Given the description of an element on the screen output the (x, y) to click on. 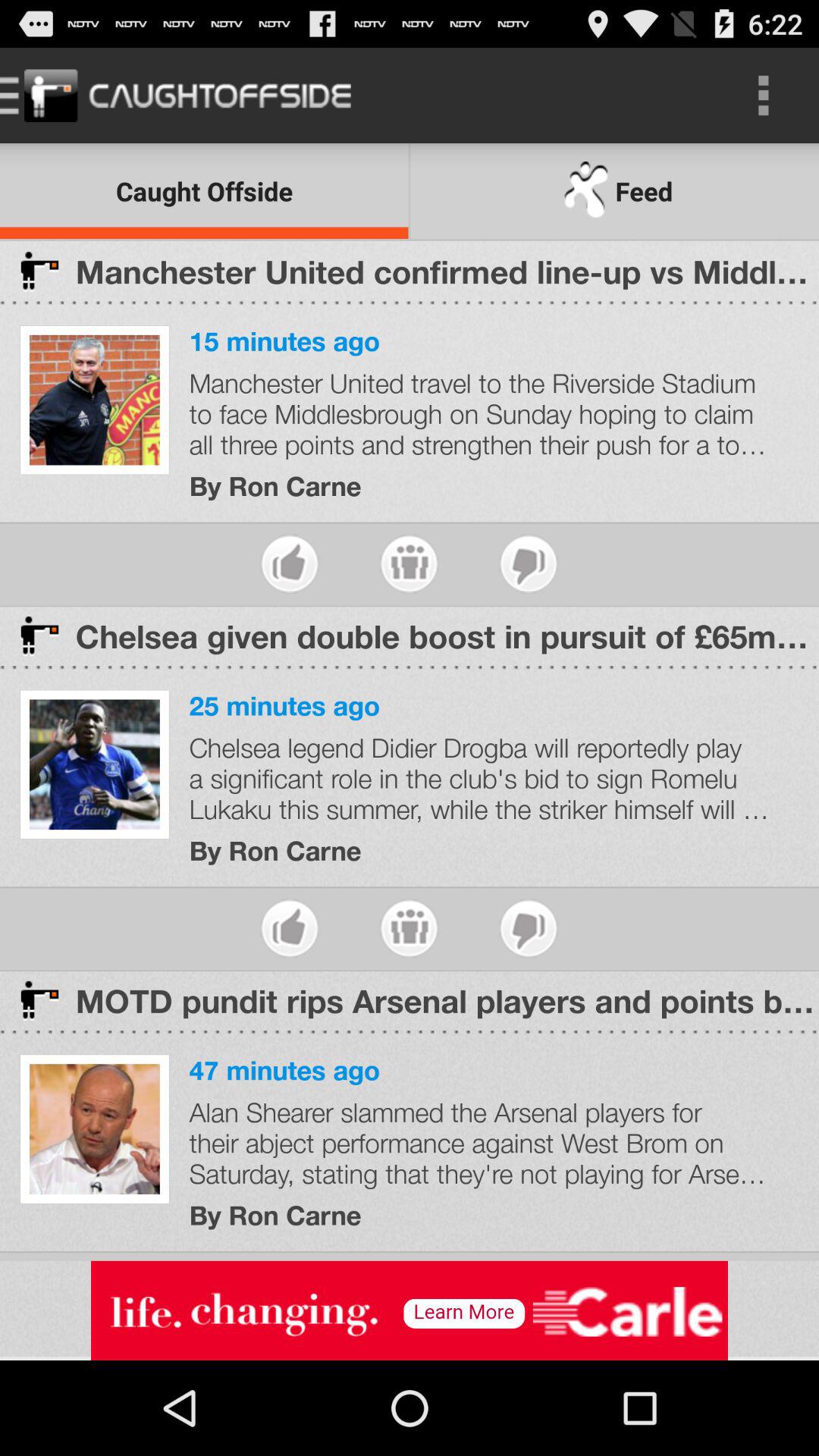
show outside advertisement (409, 1310)
